Given the description of an element on the screen output the (x, y) to click on. 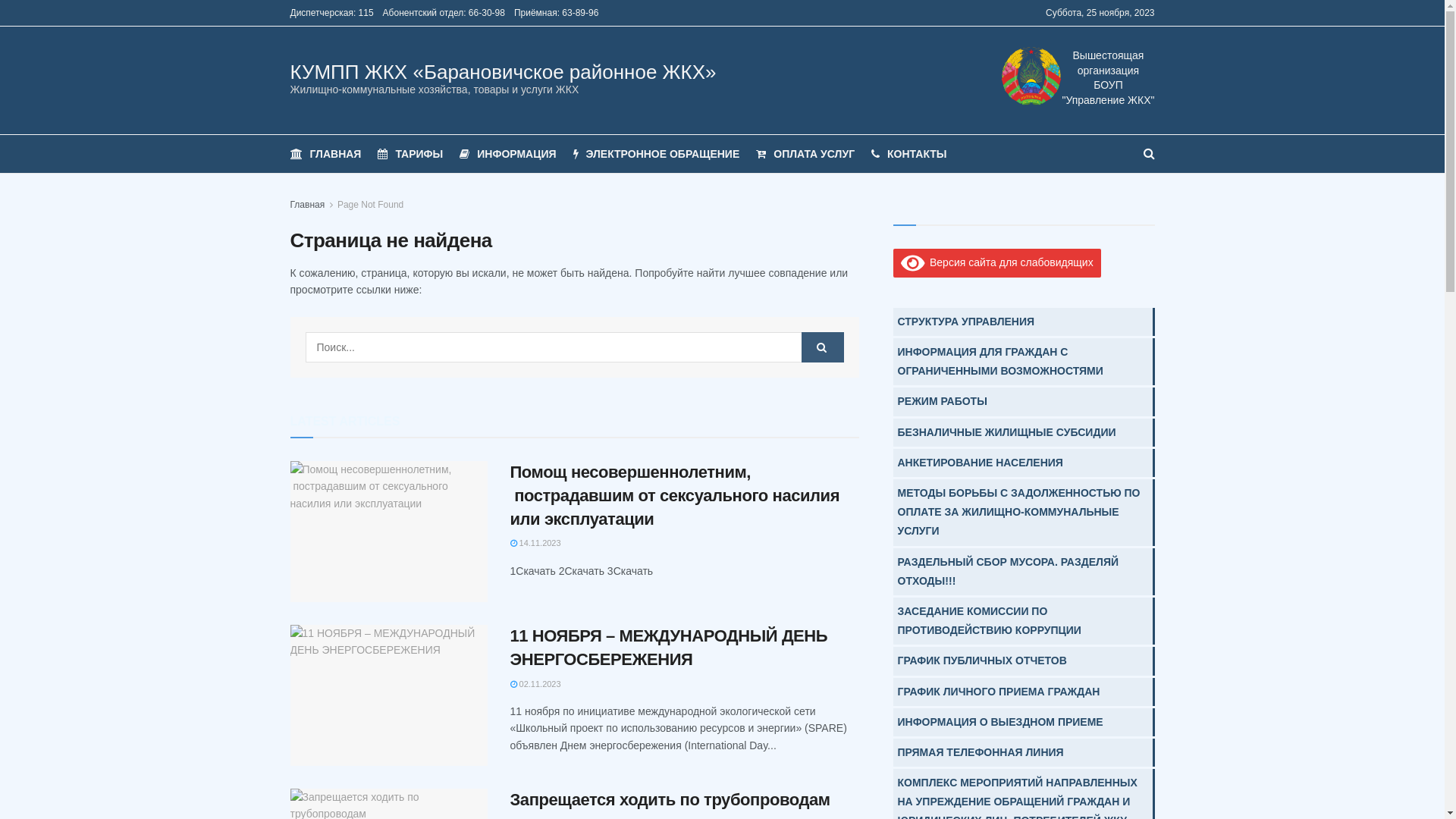
02.11.2023 Element type: text (534, 683)
Page Not Found Element type: text (370, 204)
Russian Element type: hover (1009, 13)
14.11.2023 Element type: text (534, 542)
Belarusian Element type: hover (1027, 13)
